Given the description of an element on the screen output the (x, y) to click on. 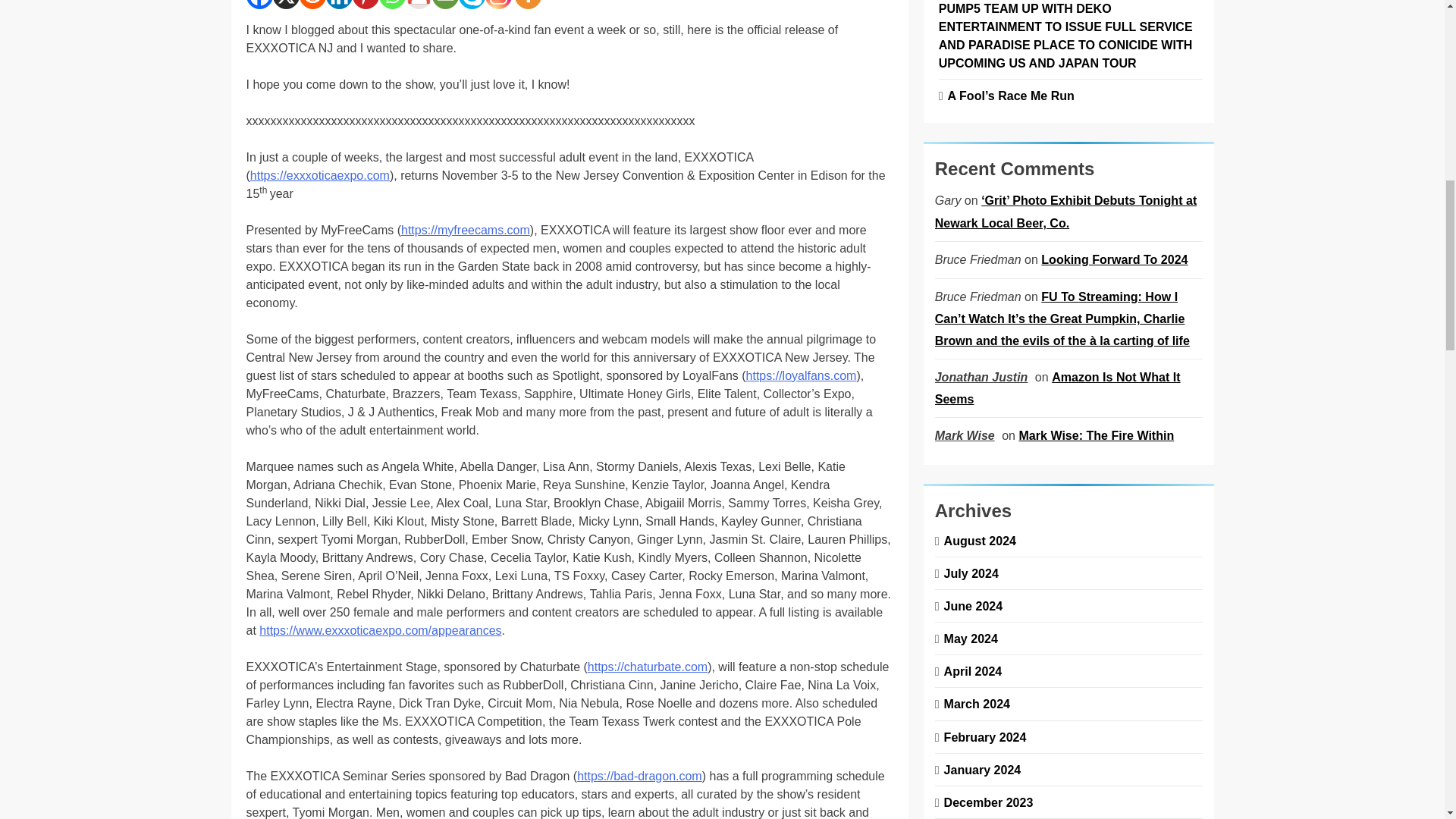
Reddit (311, 4)
X (286, 4)
Skype (471, 4)
Google Gmail (417, 4)
Facebook (259, 4)
Whatsapp (392, 4)
Linkedin (339, 4)
More (527, 4)
Pinterest (365, 4)
Instagram (498, 4)
